Given the description of an element on the screen output the (x, y) to click on. 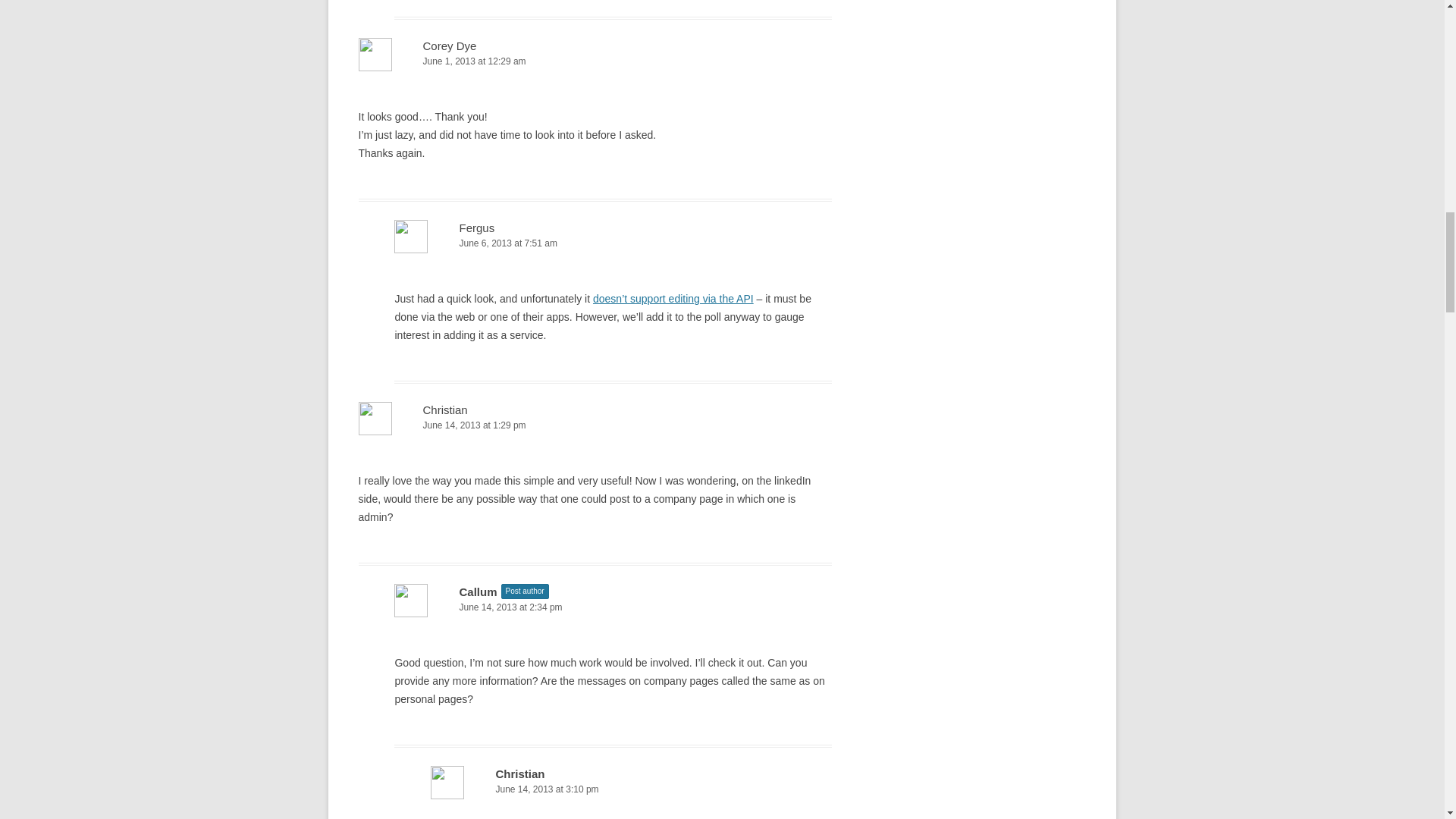
June 14, 2013 at 1:29 pm (594, 425)
June 14, 2013 at 3:10 pm (630, 789)
June 1, 2013 at 12:29 am (594, 61)
Fergus (476, 227)
Callum (477, 591)
June 14, 2013 at 2:34 pm (612, 607)
June 6, 2013 at 7:51 am (612, 243)
